Given the description of an element on the screen output the (x, y) to click on. 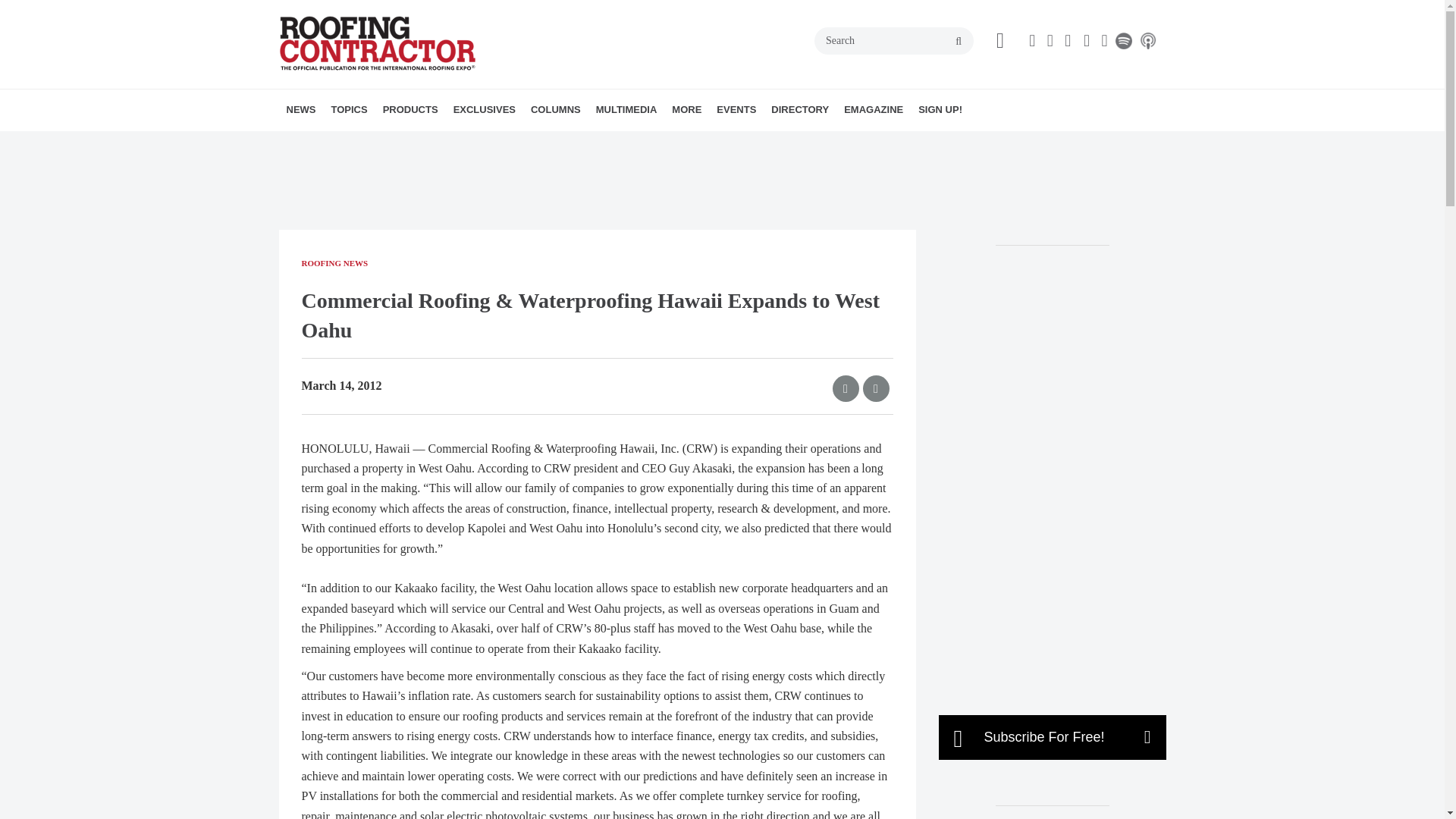
ROOFING SUPPLY PRO (449, 143)
IRE SHOW (552, 143)
ROOFING CONTRACTOR OF THE YEAR (558, 152)
SUSTAINABLE ROOFING (458, 143)
TECHNOLOGY (461, 143)
Search (893, 40)
search (958, 41)
LATINOS IN ROOFING (430, 143)
PRODUCTS (410, 109)
METAL (442, 143)
